Given the description of an element on the screen output the (x, y) to click on. 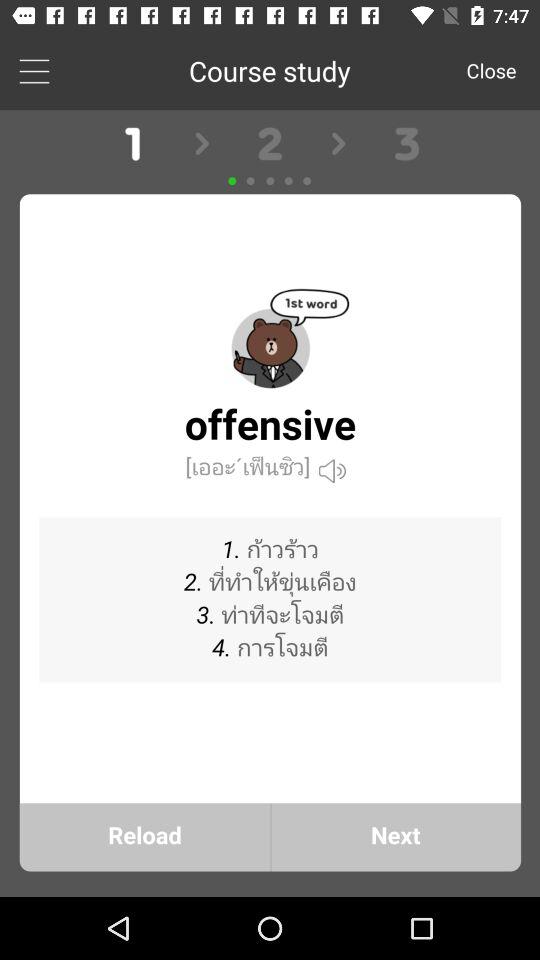
next slide (270, 503)
